Given the description of an element on the screen output the (x, y) to click on. 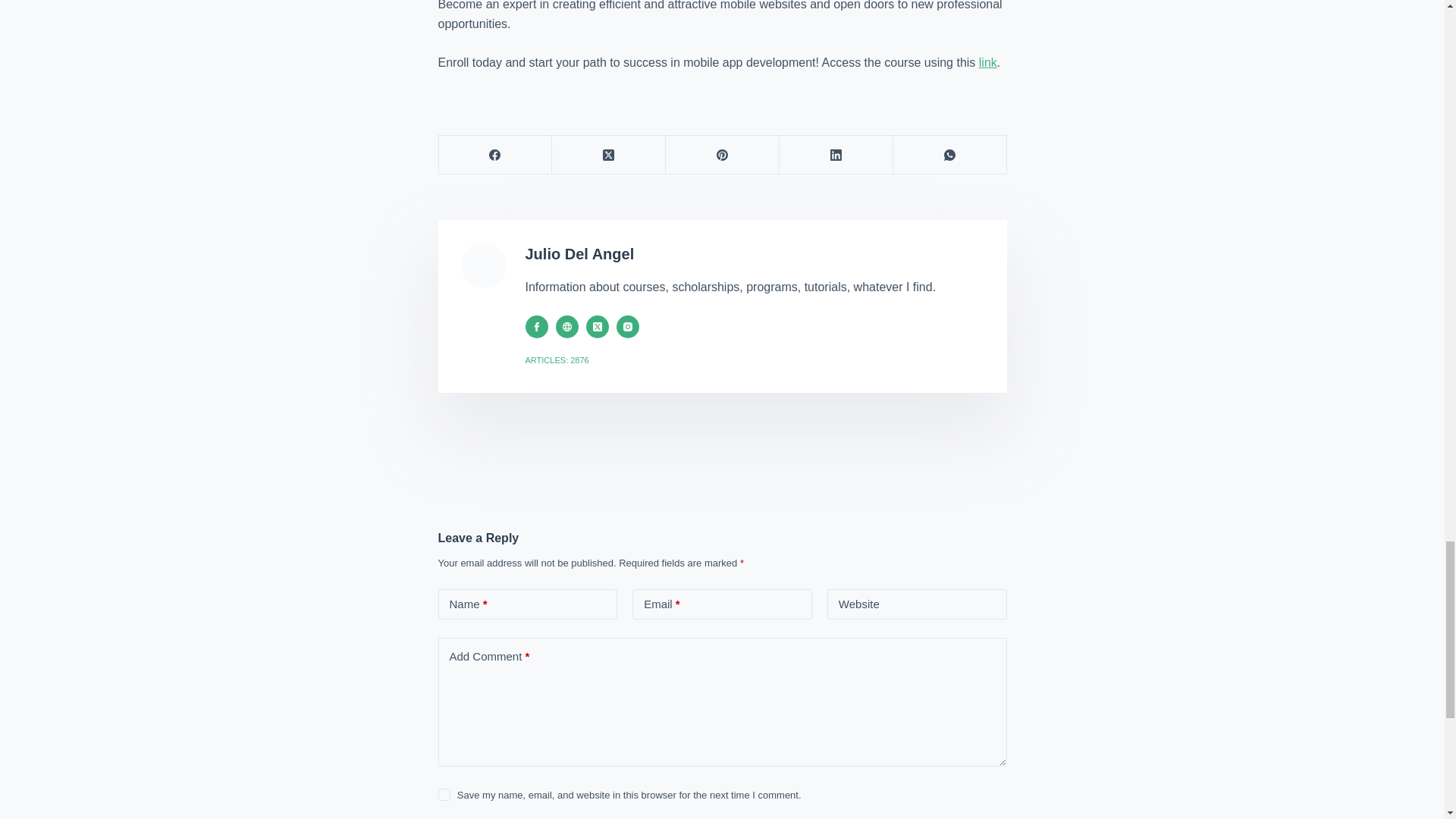
ARTICLES: 2876 (556, 359)
yes (443, 794)
link (987, 62)
